Given the description of an element on the screen output the (x, y) to click on. 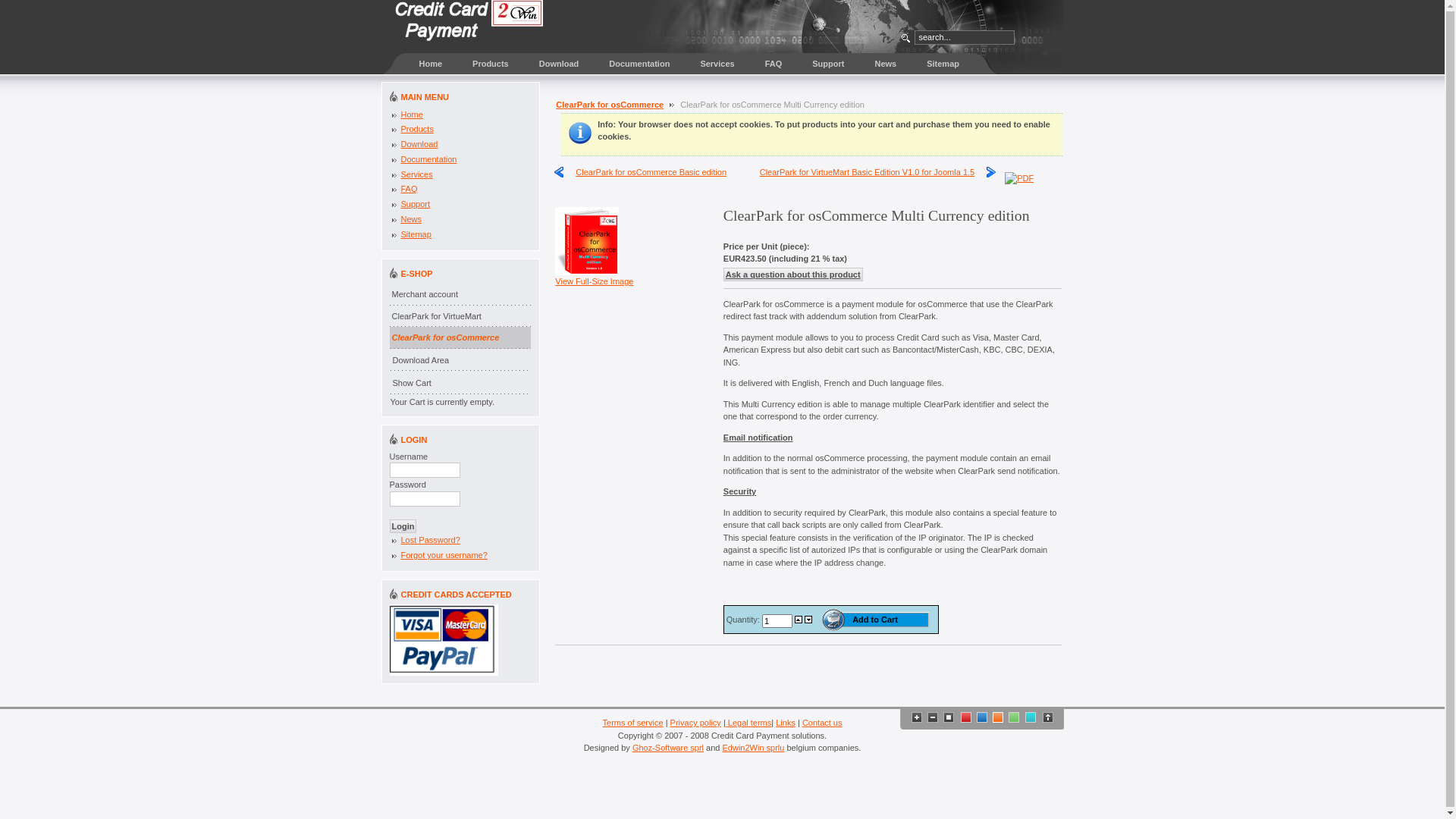
Add to Cart Element type: text (874, 619)
default color Element type: hover (965, 717)
View Full-Size Image Element type: text (594, 276)
PDF Element type: hover (1018, 174)
Privacy policy Element type: text (695, 722)
Sitemap Element type: text (415, 233)
Support Element type: text (828, 63)
CREDIT CARD PAYMENT SOLUTIONS Element type: text (468, 26)
Edwin2Win sprlu Element type: text (753, 747)
Login Element type: text (403, 526)
Products Element type: text (490, 63)
Increase font size Element type: hover (916, 717)
Lost Password? Element type: text (429, 539)
Terms of service Element type: text (632, 722)
orange color Element type: hover (997, 717)
Documentation Element type: text (428, 158)
Home Element type: text (411, 113)
Links Element type: text (785, 722)
Documentation Element type: text (638, 63)
Go to top Element type: hover (1048, 719)
Support Element type: text (414, 203)
FAQ Element type: text (773, 63)
Forgot your username? Element type: text (443, 554)
blue color Element type: hover (981, 717)
Credit Card accepted Element type: hover (443, 639)
Show Cart Element type: text (459, 383)
ClearPark for osCommerce Element type: text (459, 337)
Decrease font size Element type: hover (932, 717)
Download Element type: text (418, 143)
News Element type: text (410, 218)
News Element type: text (885, 63)
Default font size Element type: hover (948, 717)
ClearPark for VirtueMart Element type: text (459, 316)
FAQ Element type: text (408, 188)
Legal terms Element type: text (749, 722)
Ask a question about this product Element type: text (792, 274)
ClearPark for VirtueMart Basic Edition V1.0 for Joomla 1.5 Element type: text (878, 171)
ClearPark for osCommerce Element type: text (609, 104)
Home Element type: text (418, 63)
Legal terms Element type: hover (726, 722)
Ghoz-Software sprl Element type: text (667, 747)
Sitemap Element type: text (942, 63)
Download Area Element type: text (459, 360)
green color Element type: hover (1013, 717)
Services Element type: text (416, 173)
cyan color Element type: hover (1030, 717)
Download Element type: text (559, 63)
Merchant account Element type: text (459, 294)
Add to Cart Element type: hover (874, 619)
Products Element type: text (416, 128)
ClearPark for osCommerce Basic edition Element type: text (639, 171)
Services Element type: text (716, 63)
Contact us Element type: text (822, 722)
Goto top Element type: hover (1046, 717)
